Given the description of an element on the screen output the (x, y) to click on. 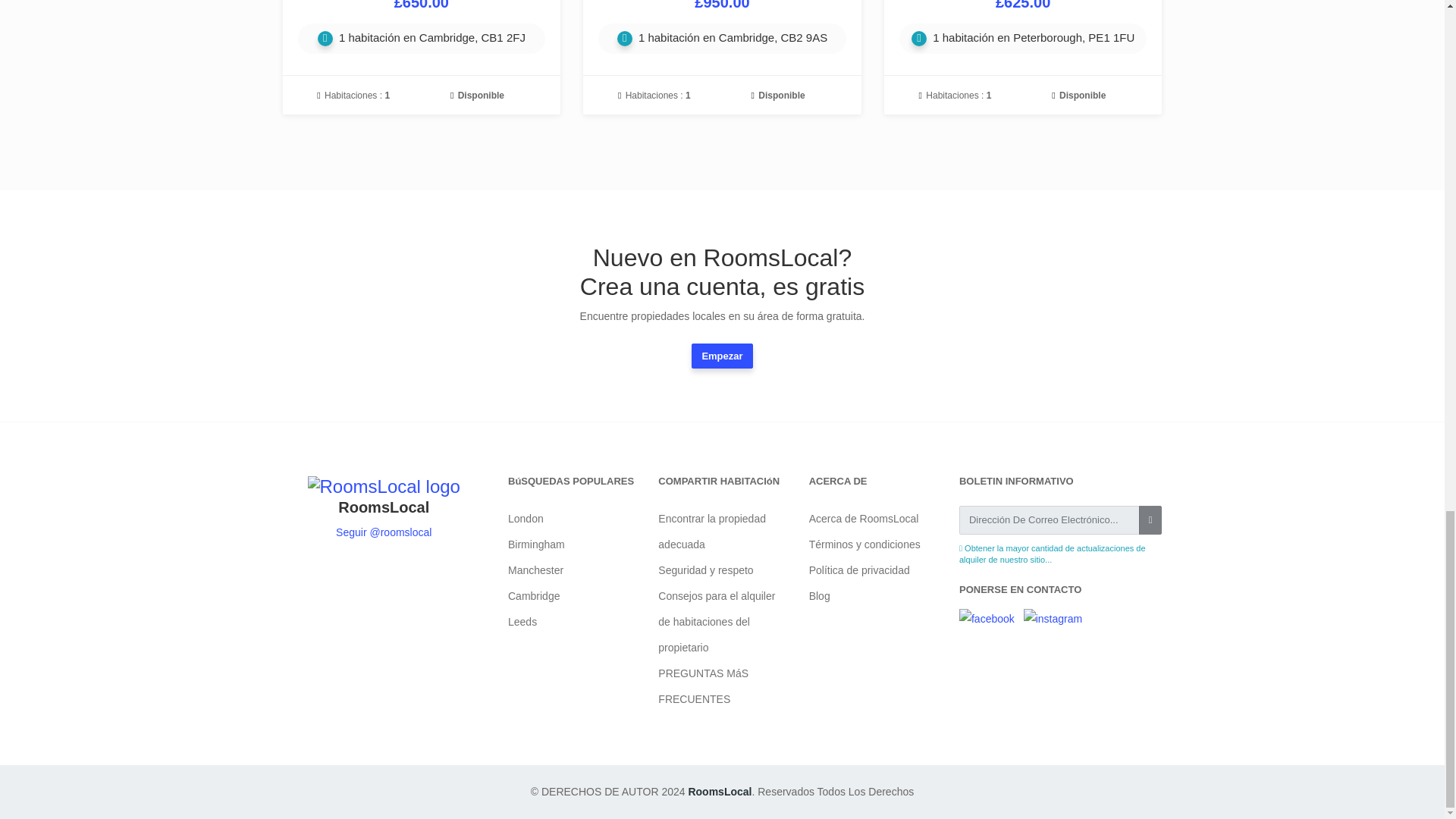
Empezar (721, 356)
London (525, 518)
Buscar habitaciones en manchester (535, 570)
Buscar habitaciones en birmingham (536, 544)
Birmingham (536, 544)
Buscar habitaciones en london (525, 518)
Buscar habitaciones en leeds (522, 621)
Buscar habitaciones en cambridge (533, 595)
Manchester (535, 570)
